Given the description of an element on the screen output the (x, y) to click on. 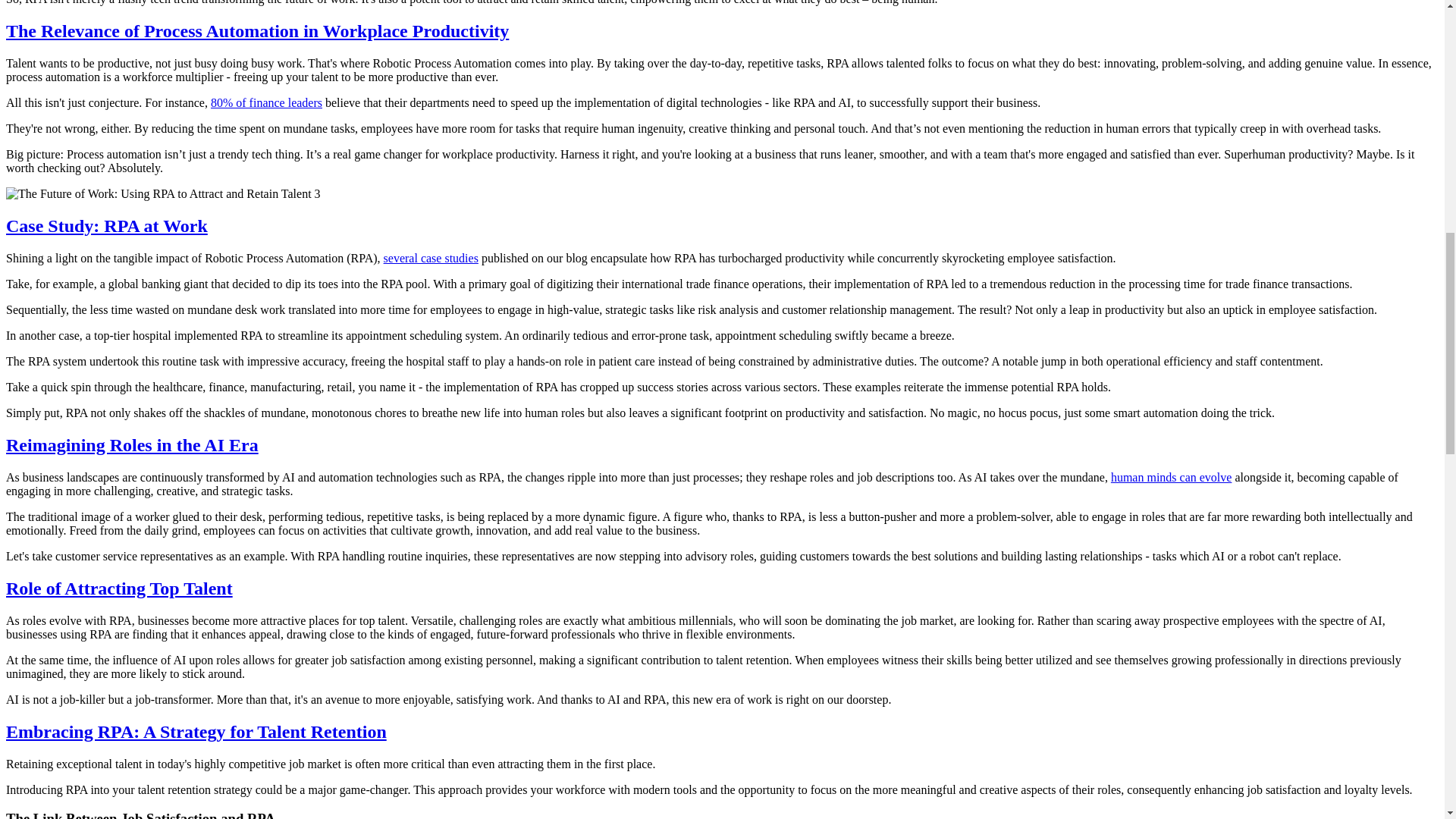
Case Study: RPA at Work (106, 225)
Reimagining Roles in the AI Era (132, 444)
human minds can evolve (1170, 477)
several case studies (431, 257)
Role of Attracting Top Talent (118, 588)
Embracing RPA: A Strategy for Talent Retention (196, 731)
